Given the description of an element on the screen output the (x, y) to click on. 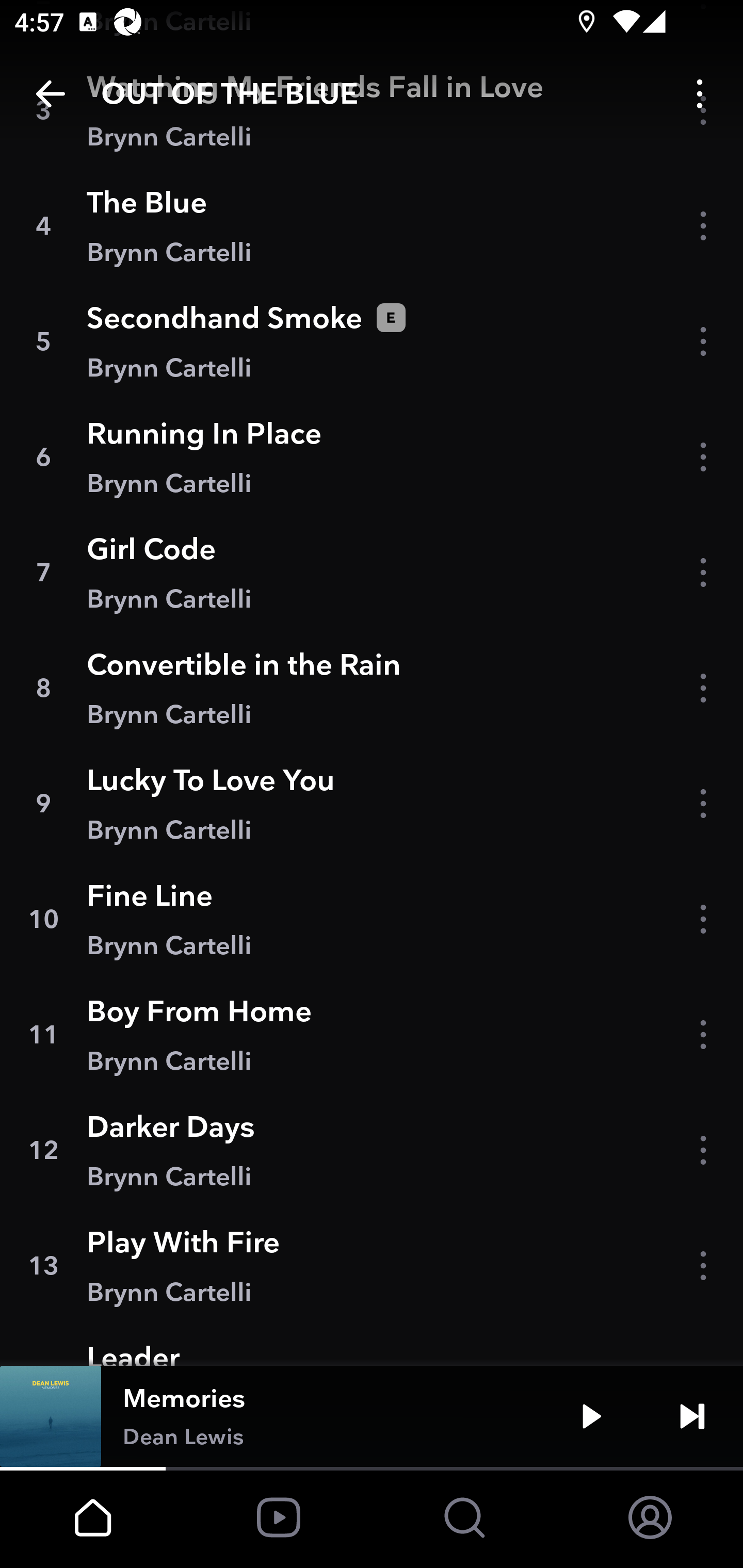
Options (699, 93)
3 Watching My Friends Fall in Love Brynn Cartelli (371, 110)
4 The Blue Brynn Cartelli (371, 225)
5 Secondhand Smoke Brynn Cartelli (371, 341)
6 Running In Place Brynn Cartelli (371, 456)
7 Girl Code Brynn Cartelli (371, 572)
8 Convertible in the Rain Brynn Cartelli (371, 688)
9 Lucky To Love You Brynn Cartelli (371, 803)
10 Fine Line Brynn Cartelli (371, 918)
11 Boy From Home Brynn Cartelli (371, 1034)
12 Darker Days Brynn Cartelli (371, 1149)
13 Play With Fire Brynn Cartelli (371, 1265)
Memories Dean Lewis Play (371, 1416)
Play (590, 1416)
